Given the description of an element on the screen output the (x, y) to click on. 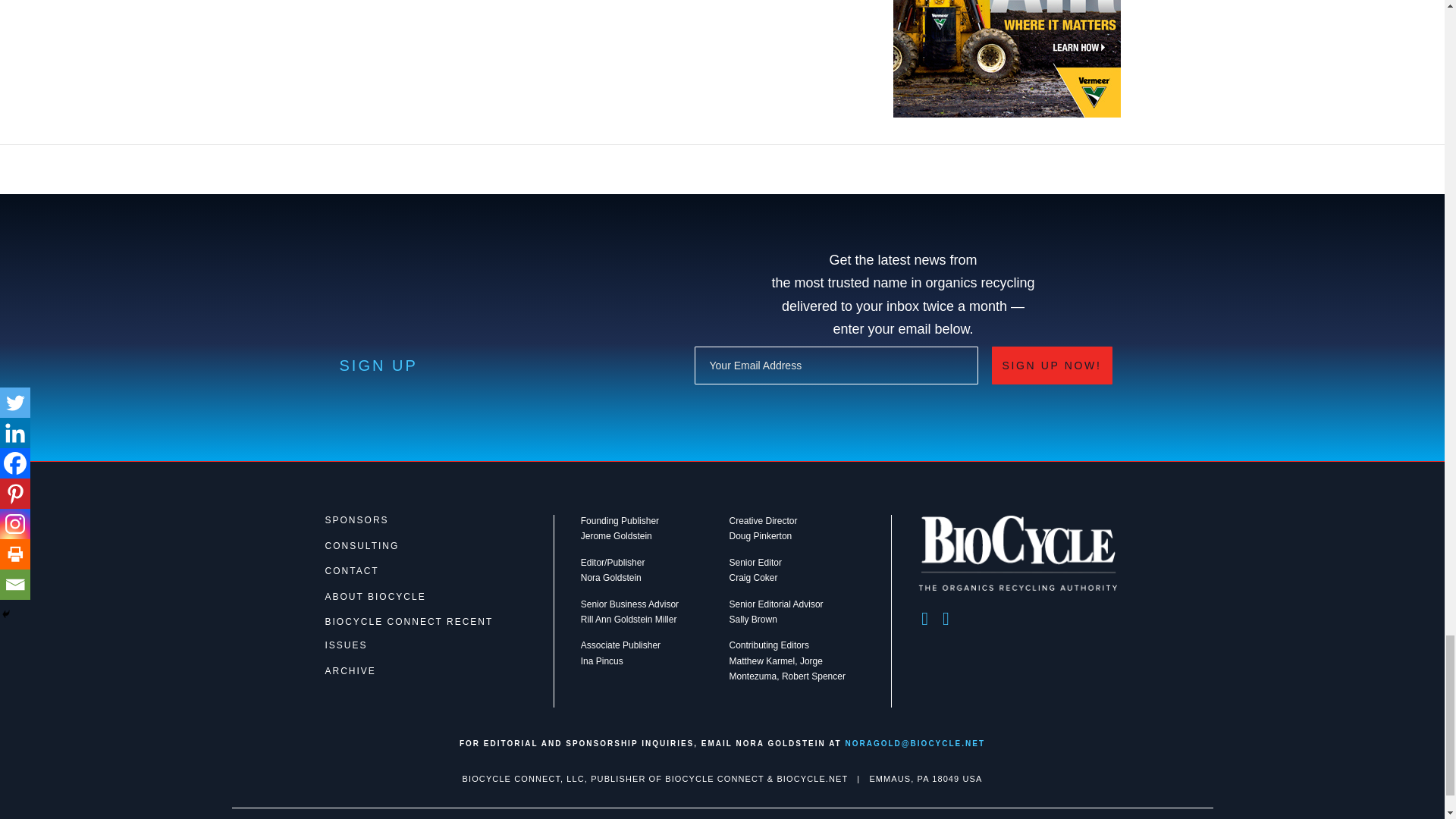
Sign Up Now! (1051, 365)
